Given the description of an element on the screen output the (x, y) to click on. 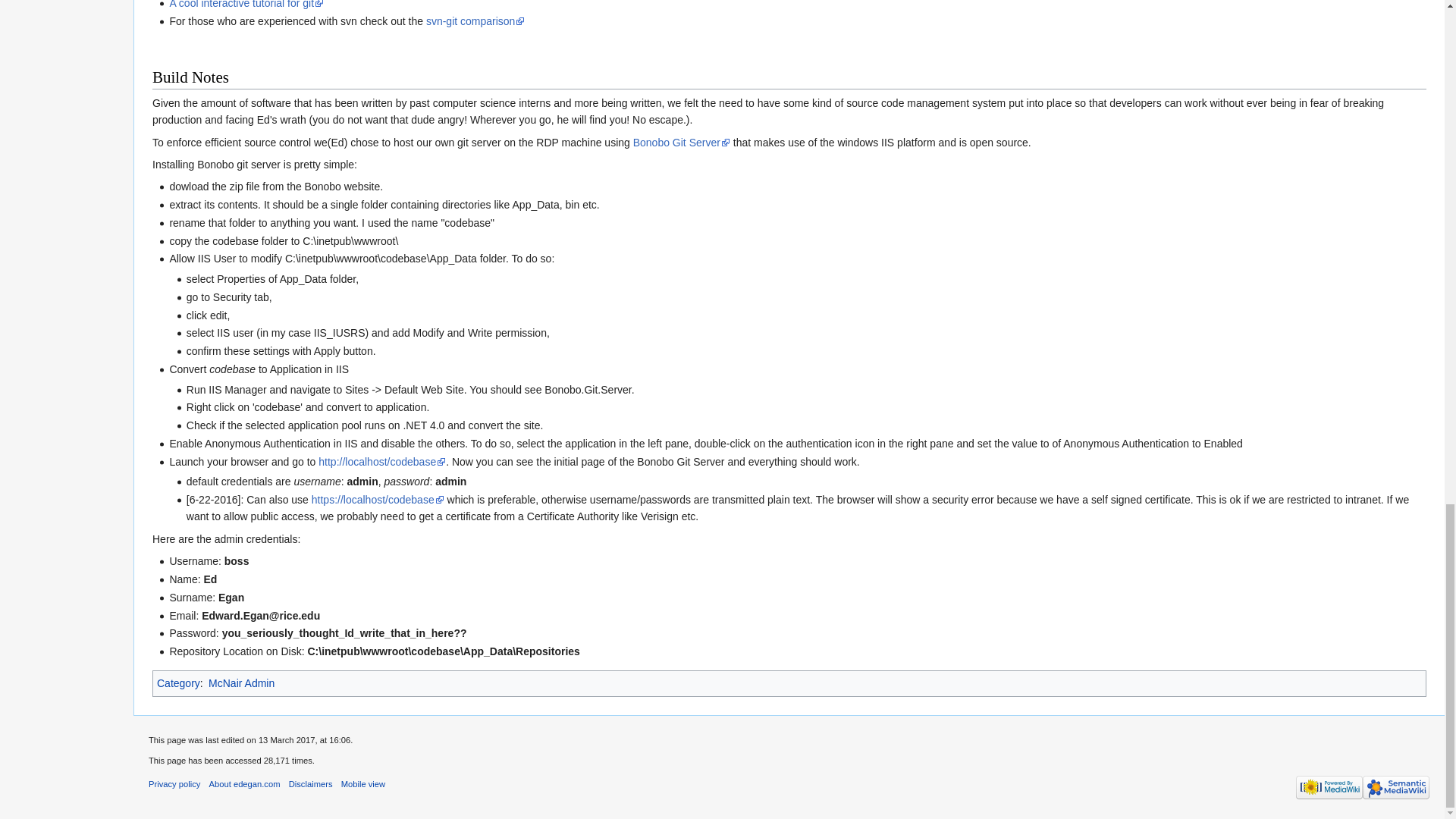
svn-git comparison (475, 21)
Category (178, 683)
Special:Categories (178, 683)
Bonobo Git Server (681, 142)
A cool interactive tutorial for git (245, 4)
Category:McNair Admin (241, 683)
McNair Admin (241, 683)
